Given the description of an element on the screen output the (x, y) to click on. 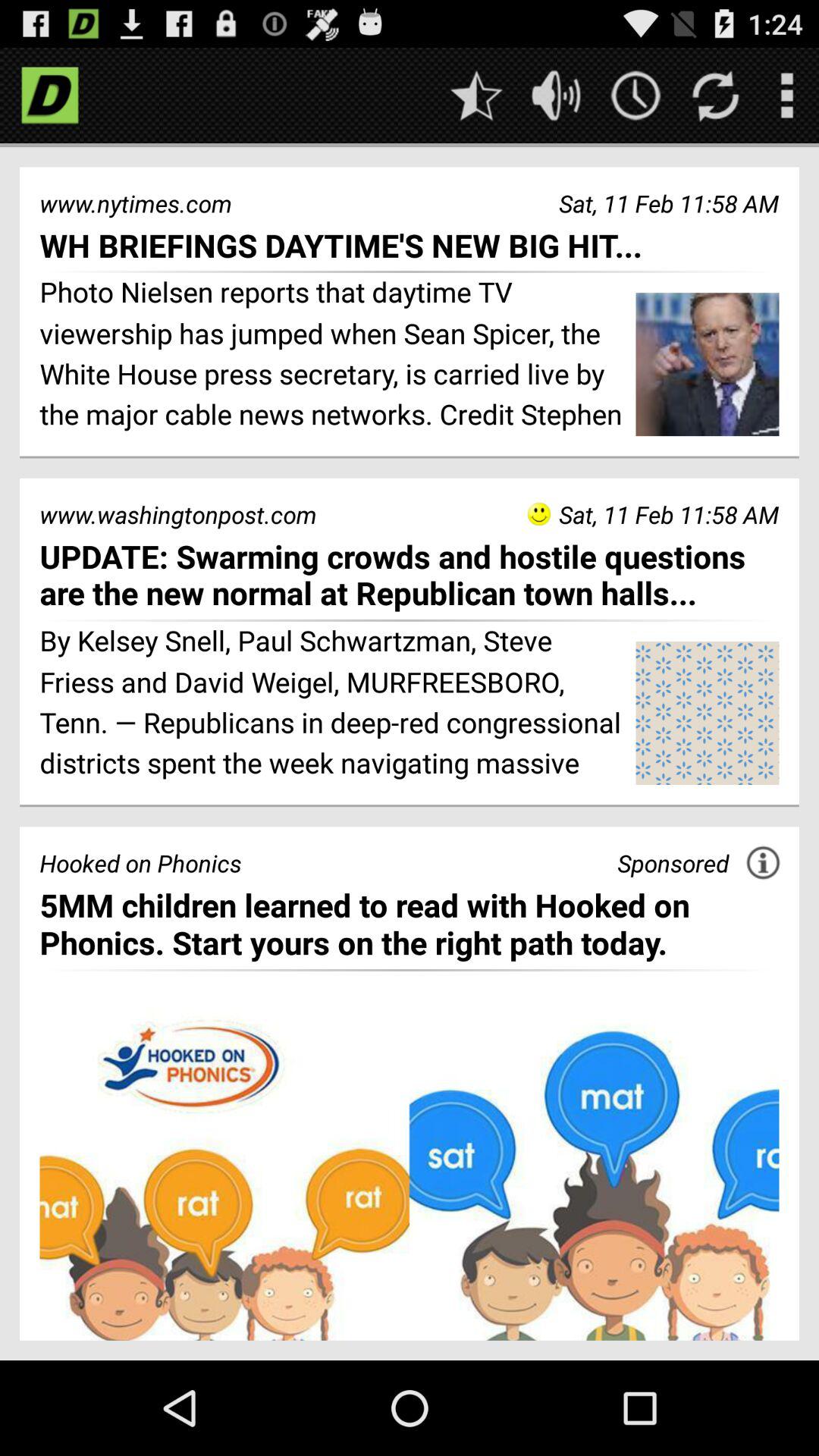
open the icon to the right of the www.washingtonpost.com item (539, 514)
